Given the description of an element on the screen output the (x, y) to click on. 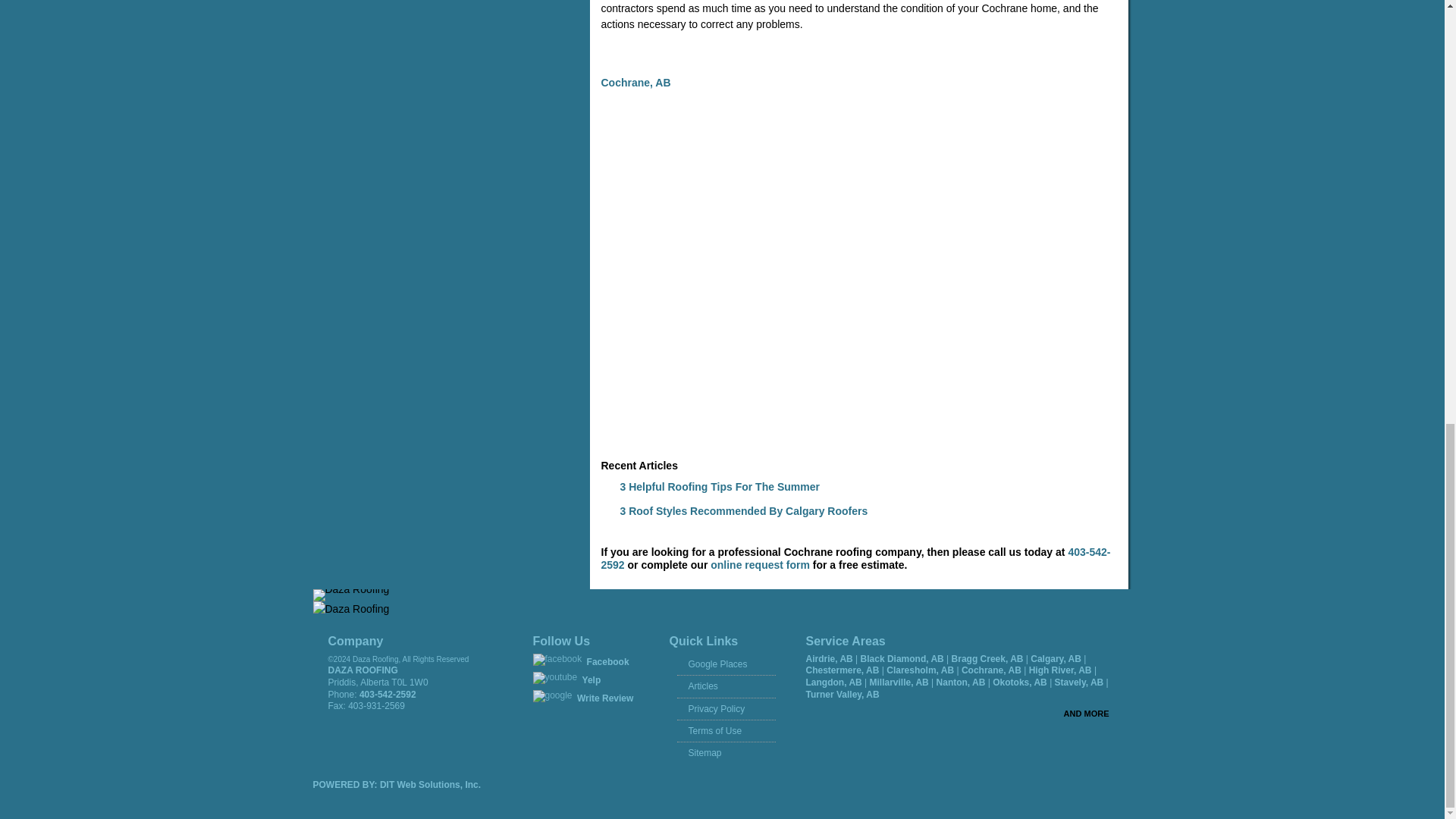
Cochrane, AB (634, 82)
Contact Us (759, 564)
Powered By DIT Web Solutions Inc. (430, 784)
3 Helpful Roofing Tips For The Summer (719, 486)
